Given the description of an element on the screen output the (x, y) to click on. 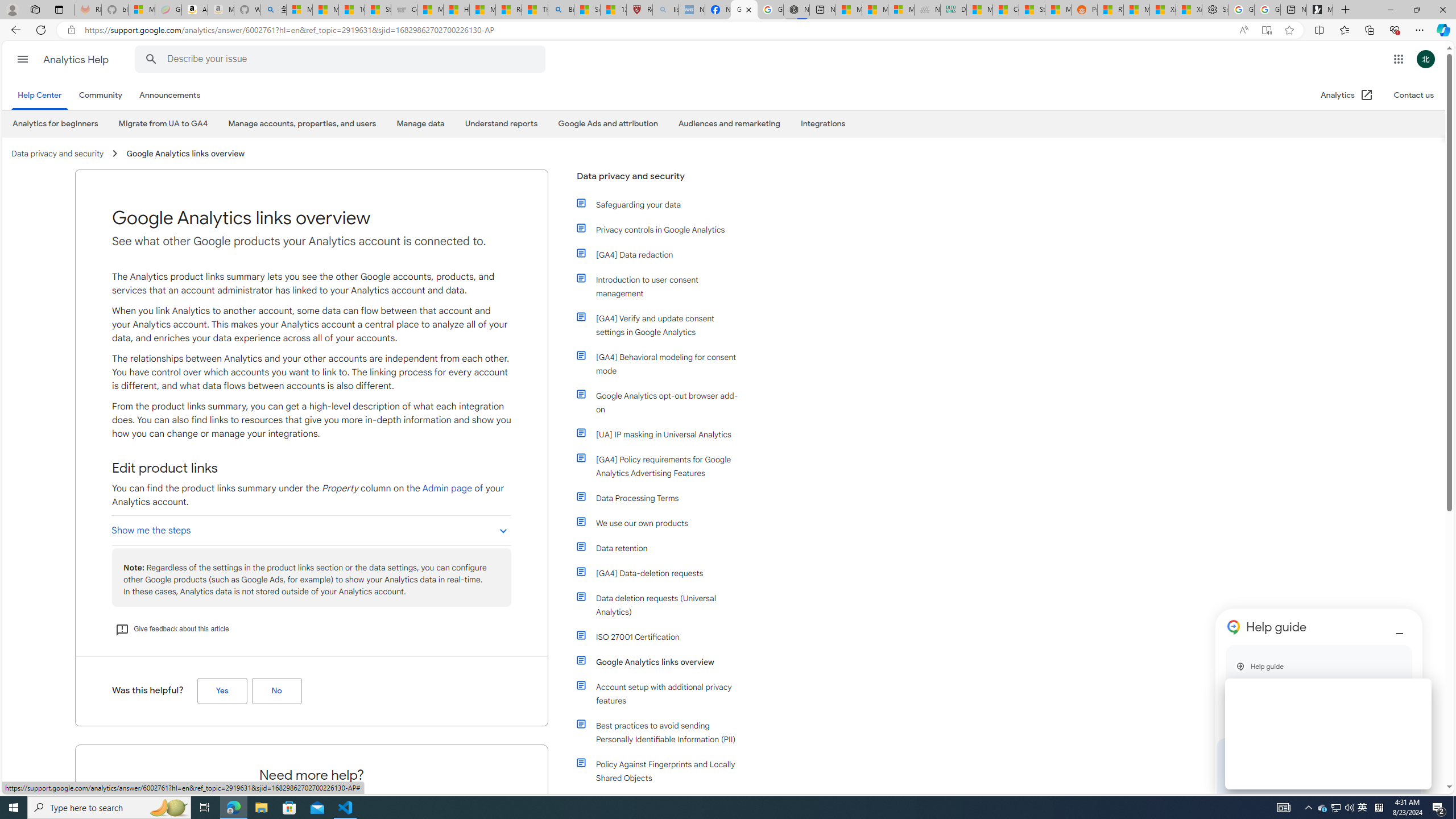
Google Analytics links overview (664, 661)
Google Analytics opt-out browser add-on (664, 402)
Data deletion requests (Universal Analytics) (664, 604)
Privacy controls in Google Analytics (658, 229)
[UA] IP masking in Universal Analytics (658, 434)
Manage data (419, 123)
Safeguarding your data (664, 204)
Policy Against Fingerprints and Locally Shared Objects (658, 770)
Google Analytics opt-out browser add-on (658, 402)
